Given the description of an element on the screen output the (x, y) to click on. 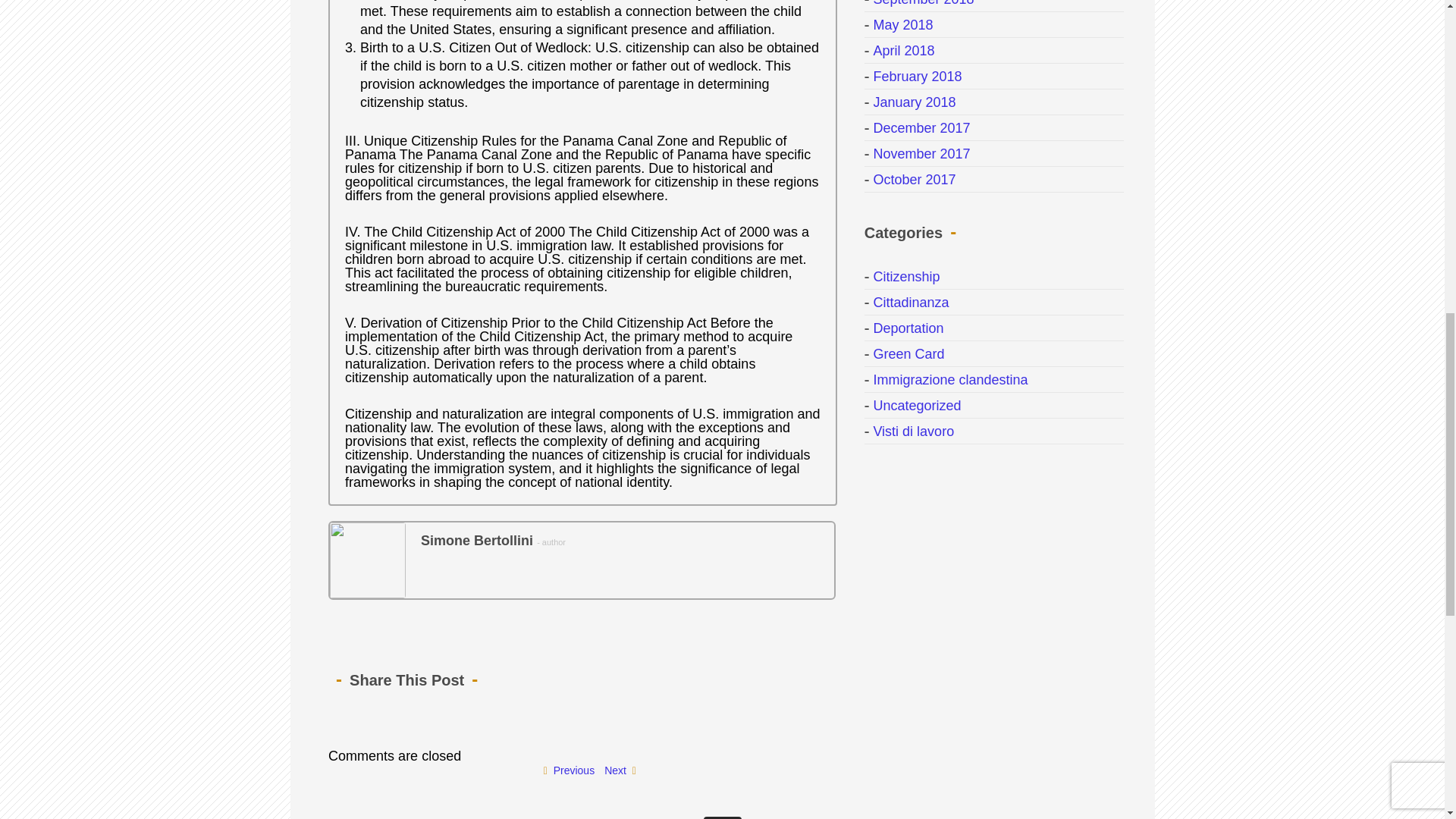
Next (618, 770)
Previous (568, 770)
